Given the description of an element on the screen output the (x, y) to click on. 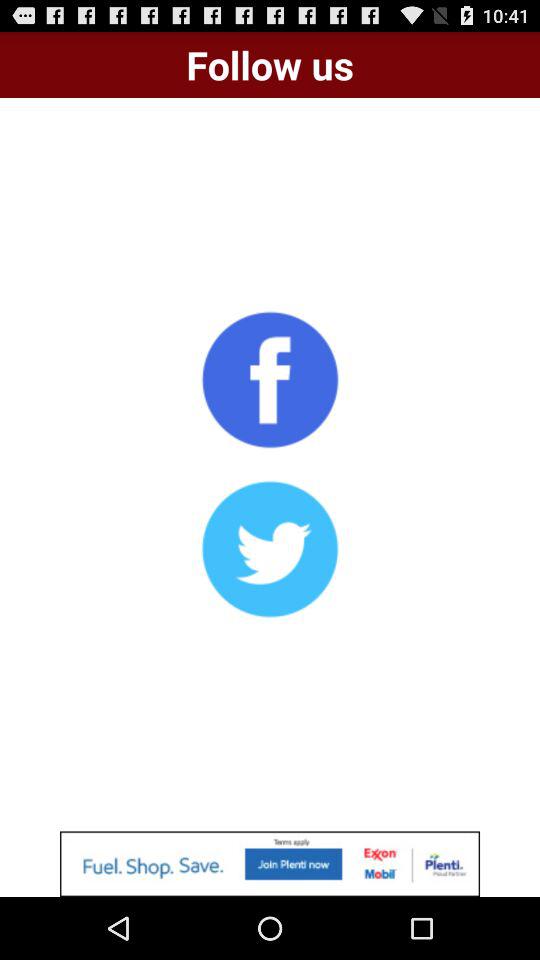
click on facebook option (270, 379)
